Given the description of an element on the screen output the (x, y) to click on. 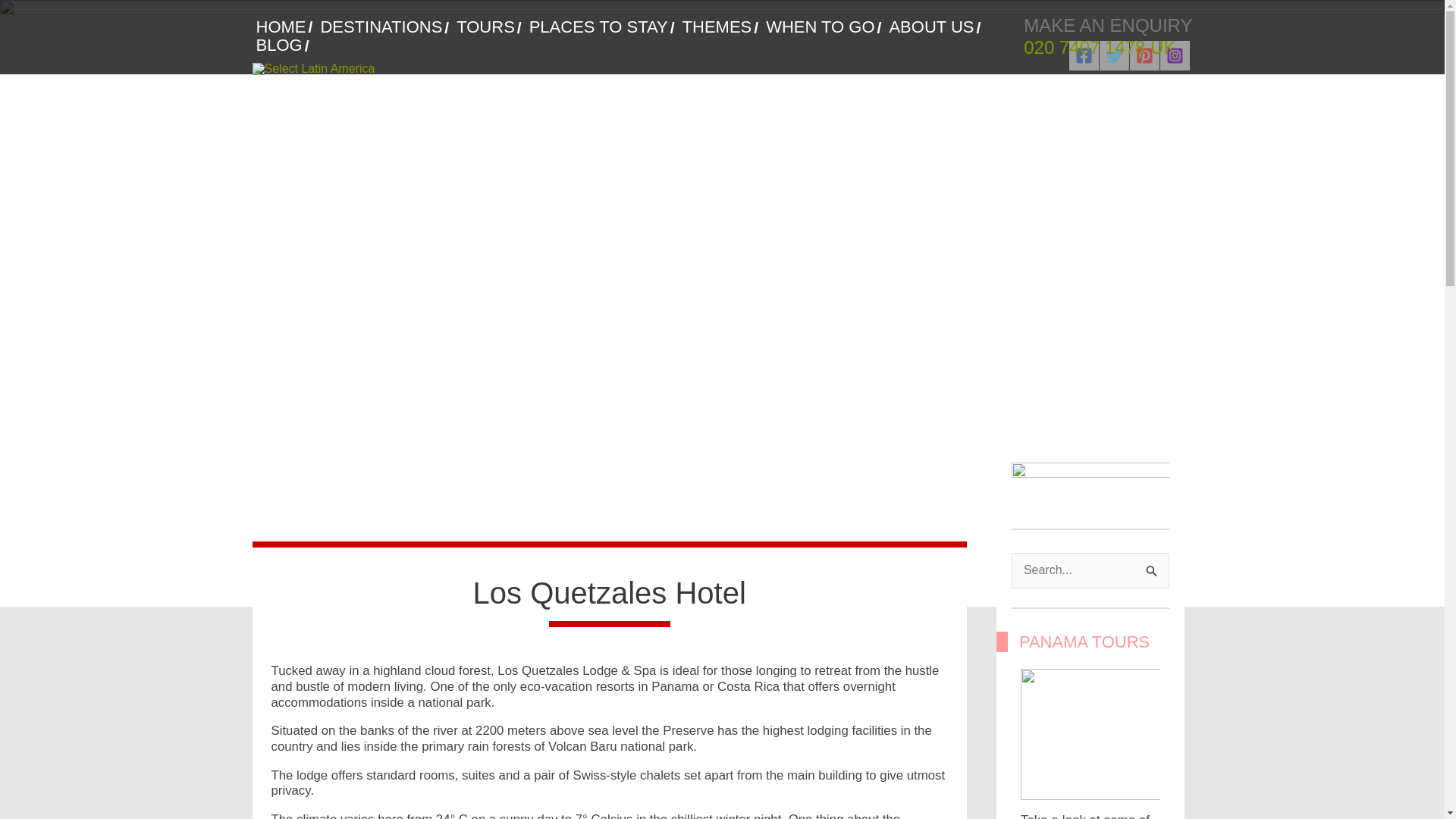
DESTINATIONS (383, 27)
Search (1152, 568)
TOURS (488, 27)
HOME (283, 27)
Search (1152, 568)
